Given the description of an element on the screen output the (x, y) to click on. 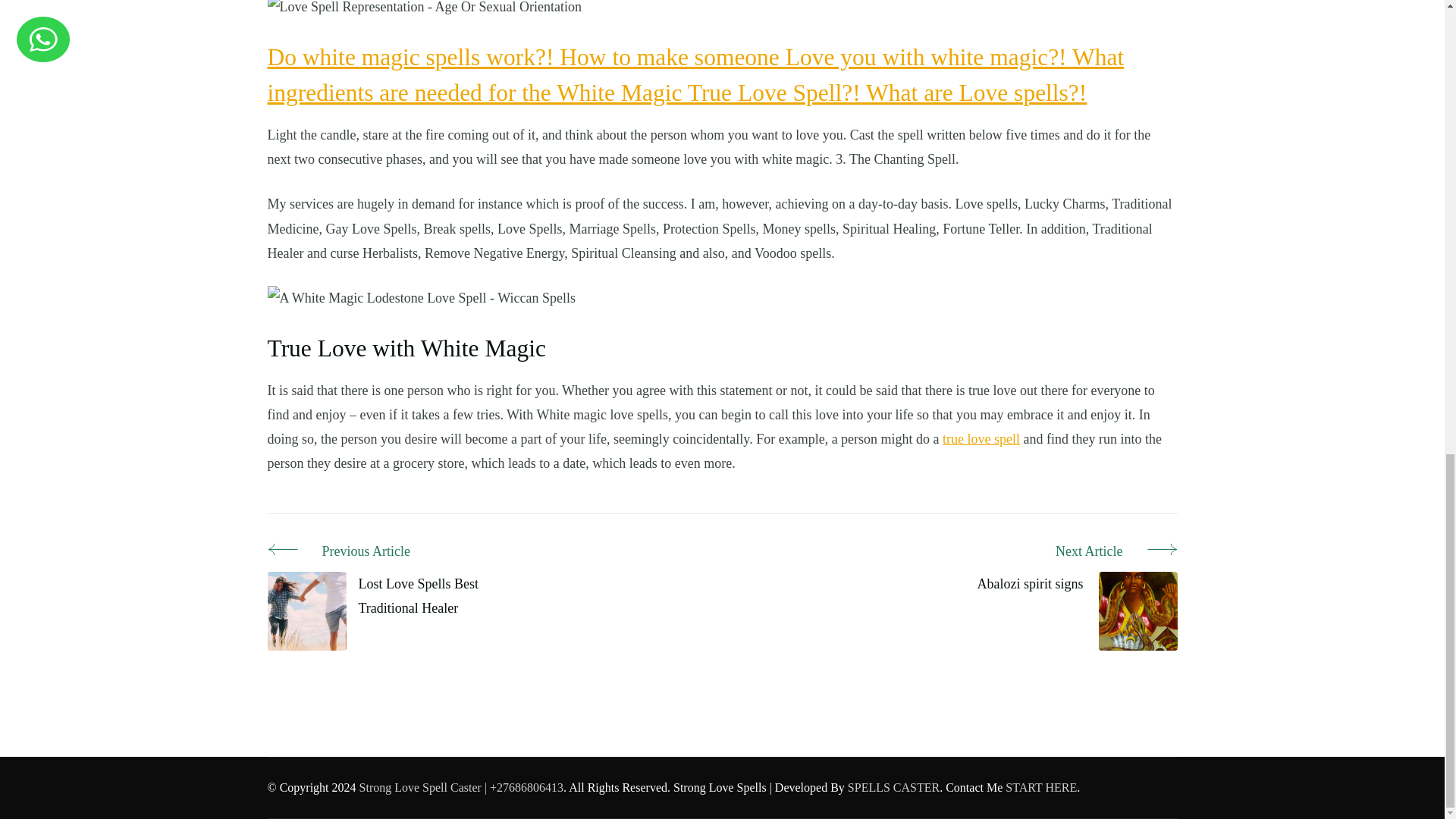
START HERE (1041, 787)
true love spell (981, 438)
SPELLS CASTER (893, 787)
Previous Article (398, 551)
Next Article (1076, 551)
